Given the description of an element on the screen output the (x, y) to click on. 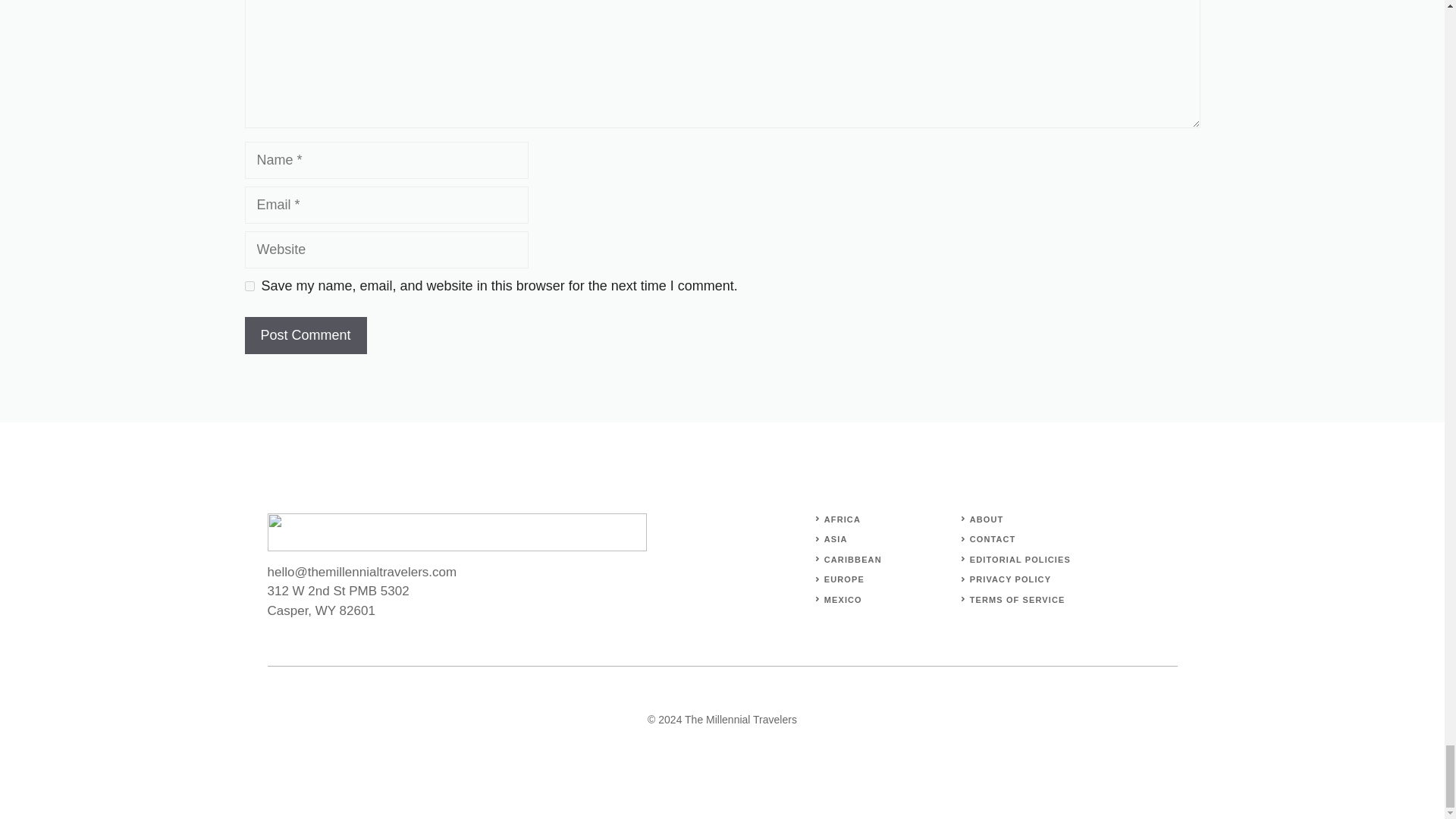
EUROPE (844, 578)
AFRICA (842, 518)
CARIBBEAN (853, 559)
MEXICO (842, 598)
yes (248, 285)
Post Comment (305, 334)
Post Comment (305, 334)
CONTACT (992, 538)
ABOUT (986, 518)
ASIA (835, 538)
